Given the description of an element on the screen output the (x, y) to click on. 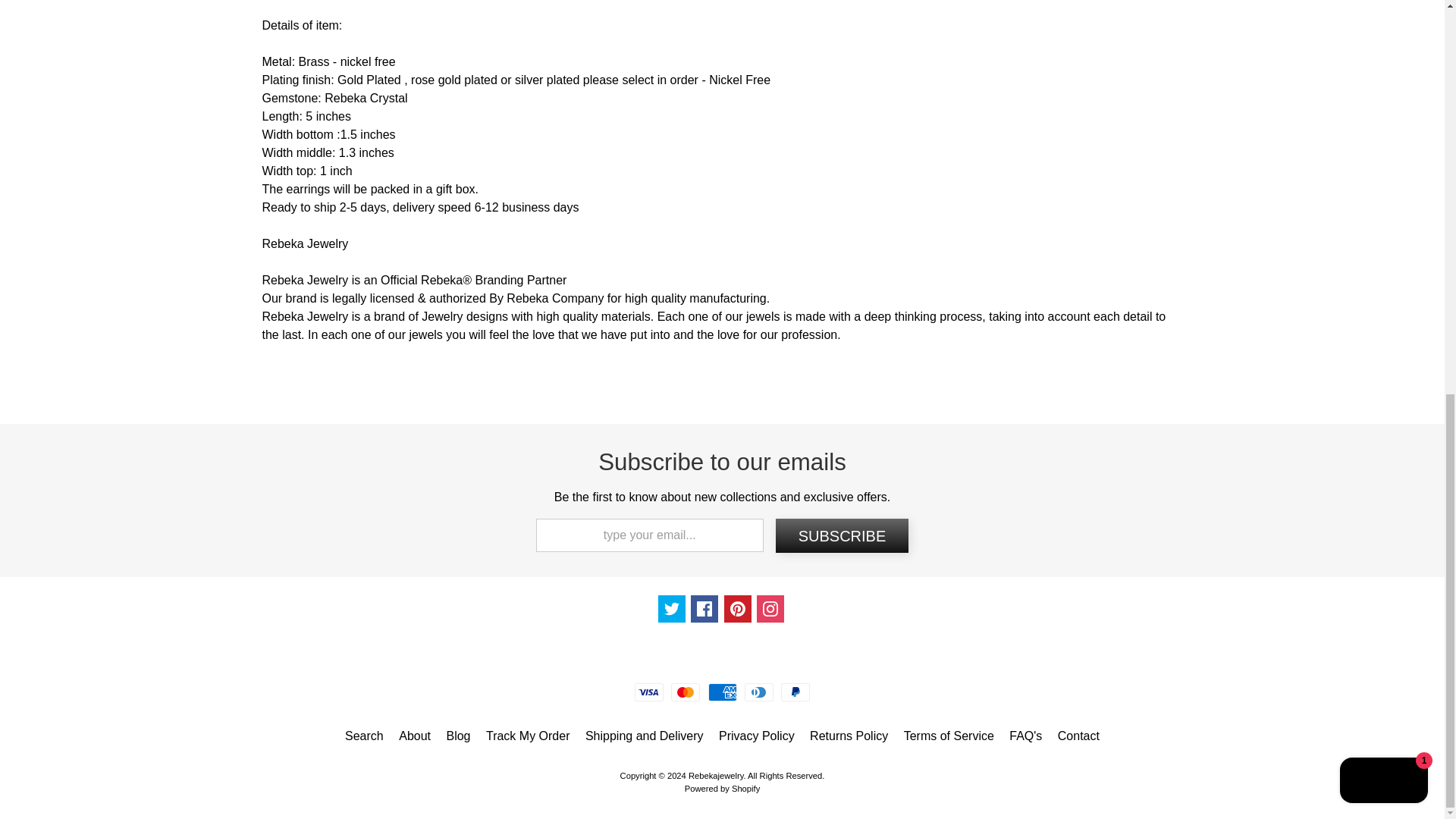
Mastercard (685, 692)
Visa (648, 692)
Facebook (703, 608)
Twitter (671, 608)
Diners Club (758, 692)
PayPal (794, 692)
Pinterest (737, 608)
Instagram (770, 608)
American Express (721, 692)
